Given the description of an element on the screen output the (x, y) to click on. 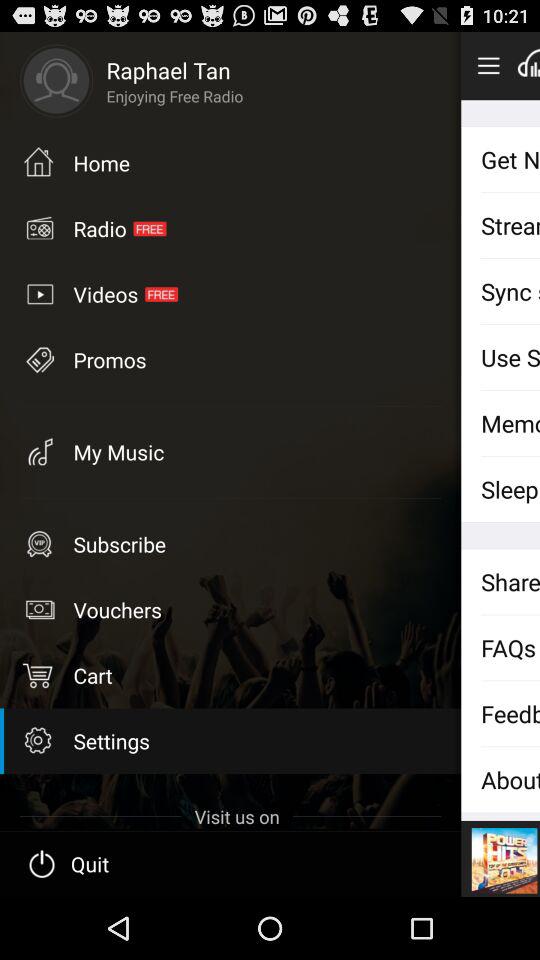
play music (528, 65)
